Given the description of an element on the screen output the (x, y) to click on. 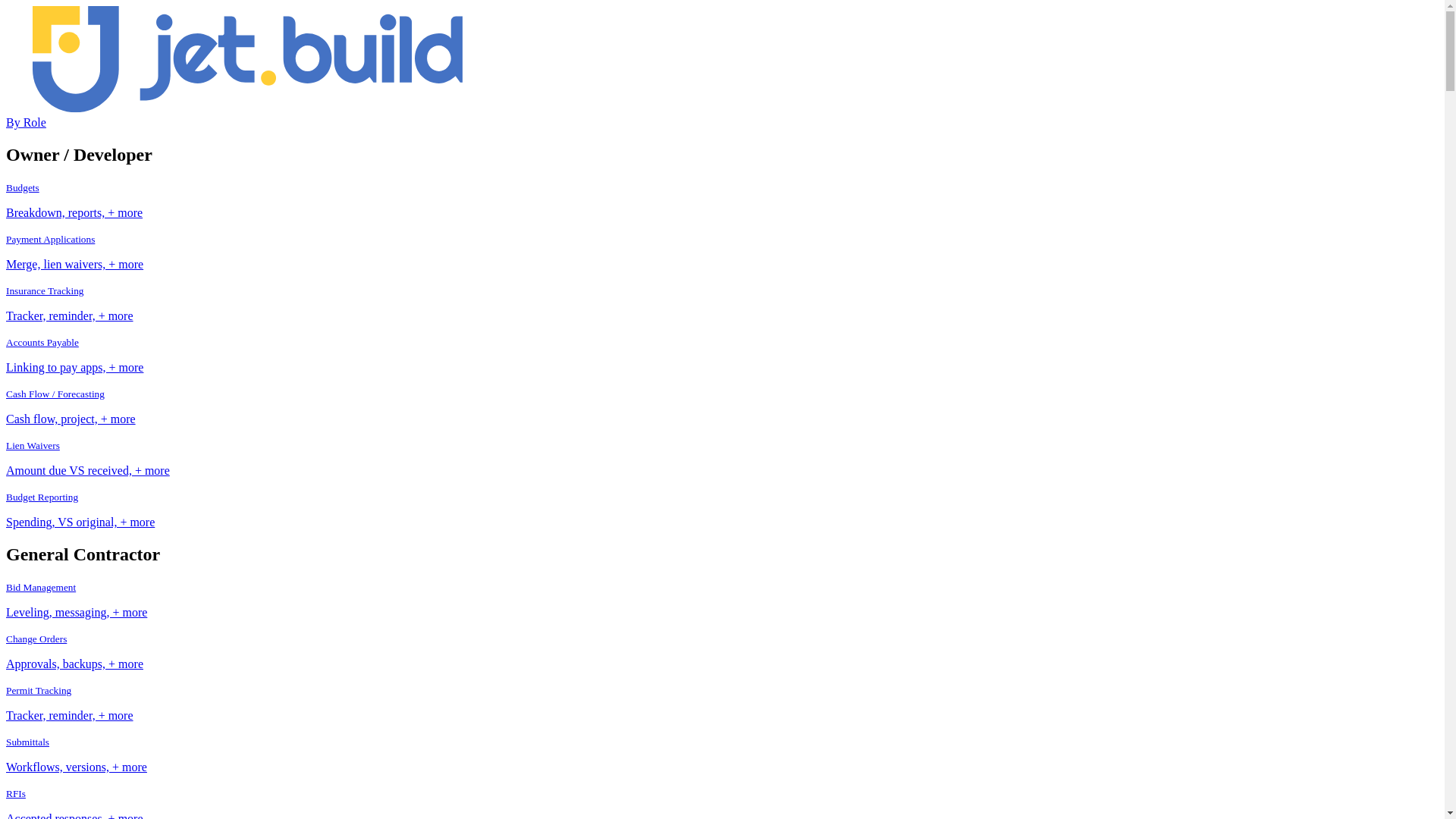
Budgets
Breakdown, reports, + more Element type: text (722, 199)
Bid Management
Leveling, messaging, + more Element type: text (722, 599)
Lien Waivers
Amount due VS received, + more Element type: text (722, 457)
Cash Flow / Forecasting
Cash flow, project, + more Element type: text (722, 406)
Payment Applications
Merge, lien waivers, + more Element type: text (722, 251)
Change Orders
Approvals, backups, + more Element type: text (722, 651)
Insurance Tracking
Tracker, reminder, + more Element type: text (722, 303)
Permit Tracking
Tracker, reminder, + more Element type: text (722, 702)
Submittals
Workflows, versions, + more Element type: text (722, 754)
Accounts Payable
Linking to pay apps, + more Element type: text (722, 354)
Budget Reporting
Spending, VS original, + more Element type: text (722, 509)
By Role Element type: text (26, 122)
